Given the description of an element on the screen output the (x, y) to click on. 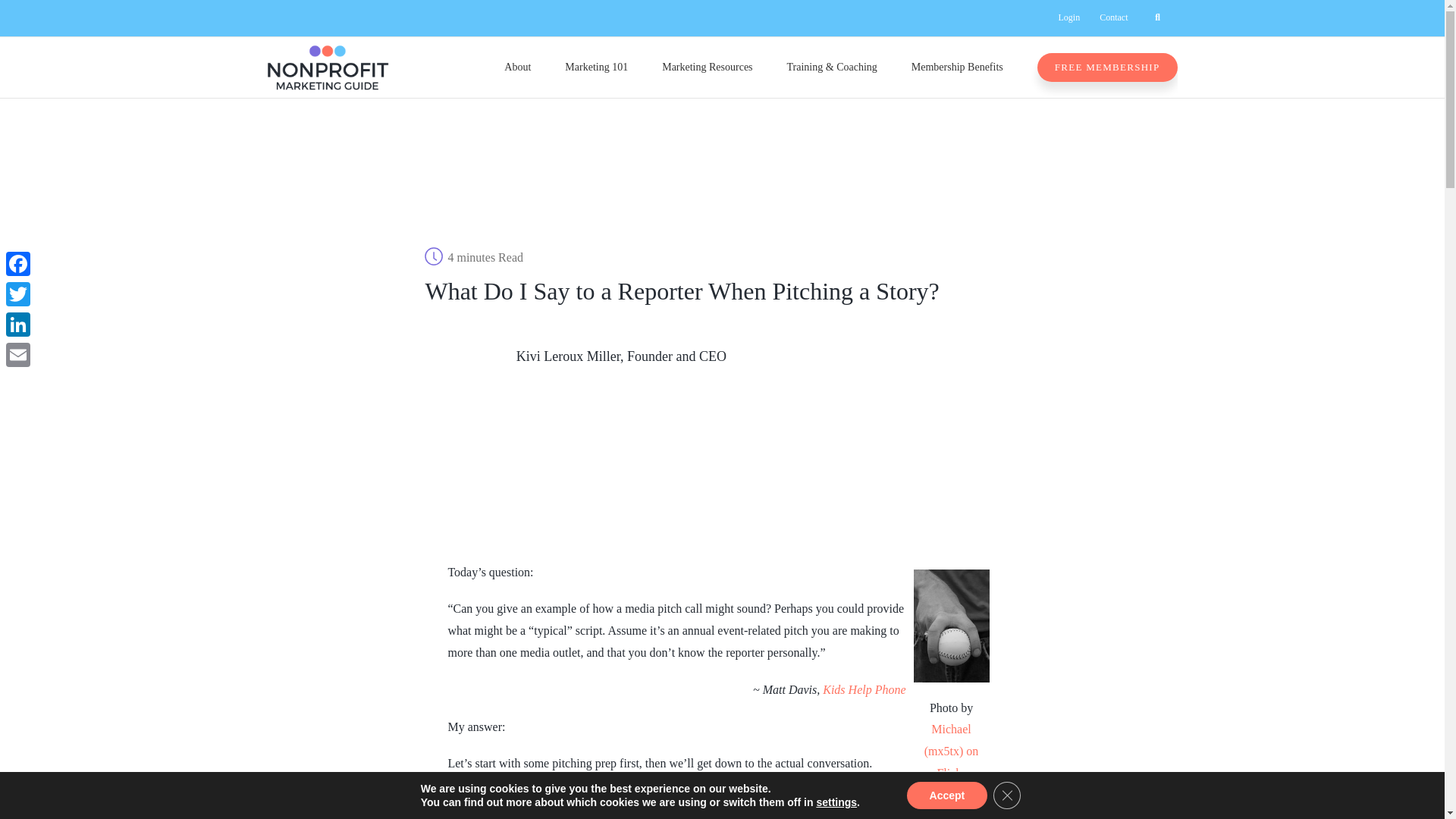
Login (1068, 18)
Contact (1113, 18)
Marketing Resources (707, 66)
Marketing 101 (595, 66)
